Given the description of an element on the screen output the (x, y) to click on. 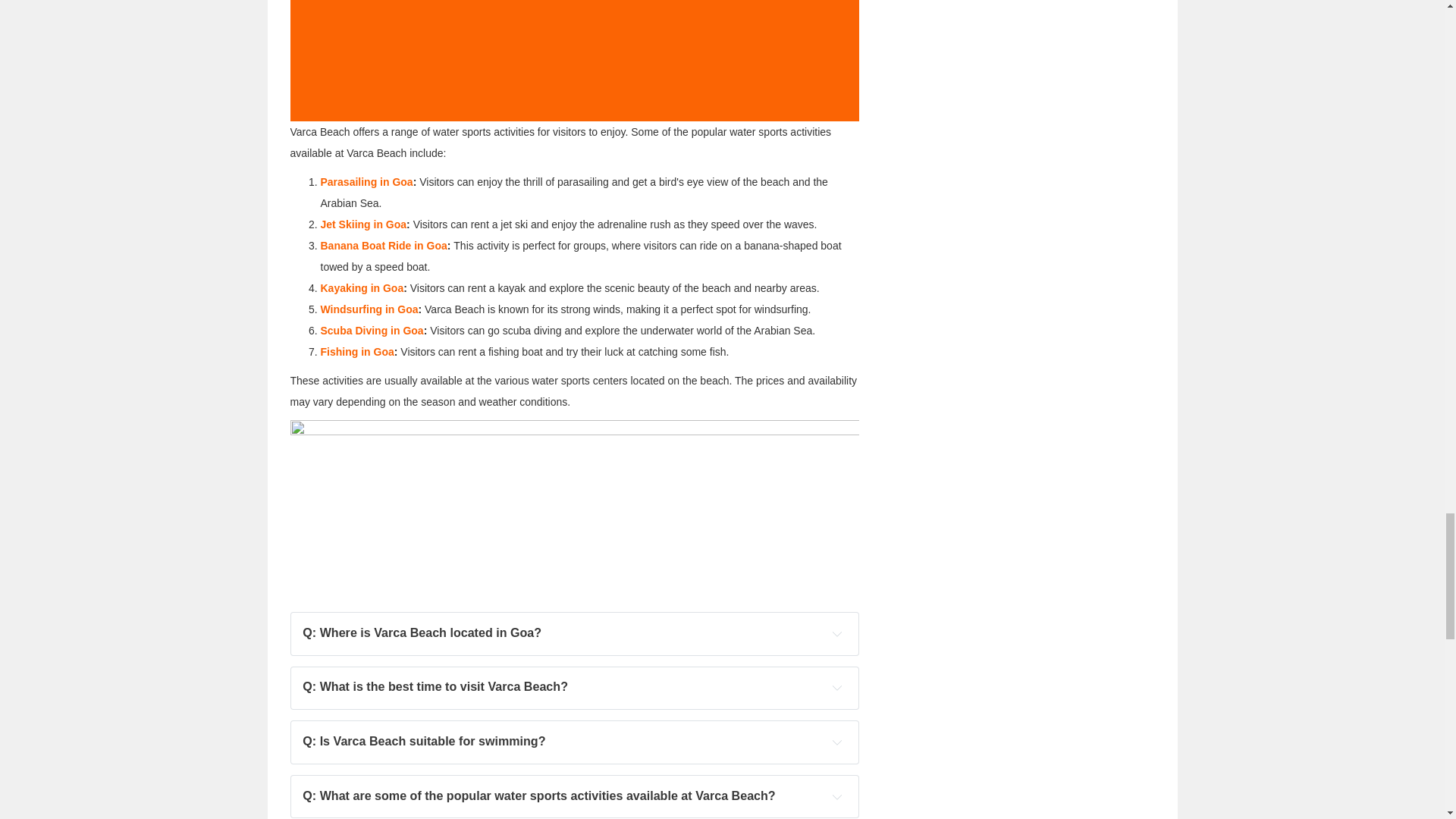
Jet Skiing in Goa (363, 224)
Kayaking in Goa (361, 287)
Parasailing in Goa (366, 182)
Fishing in Goa (356, 351)
Banana Boat Ride in Goa (383, 245)
Windsurfing in Goa (368, 309)
Scuba Diving in Goa (371, 330)
